Given the description of an element on the screen output the (x, y) to click on. 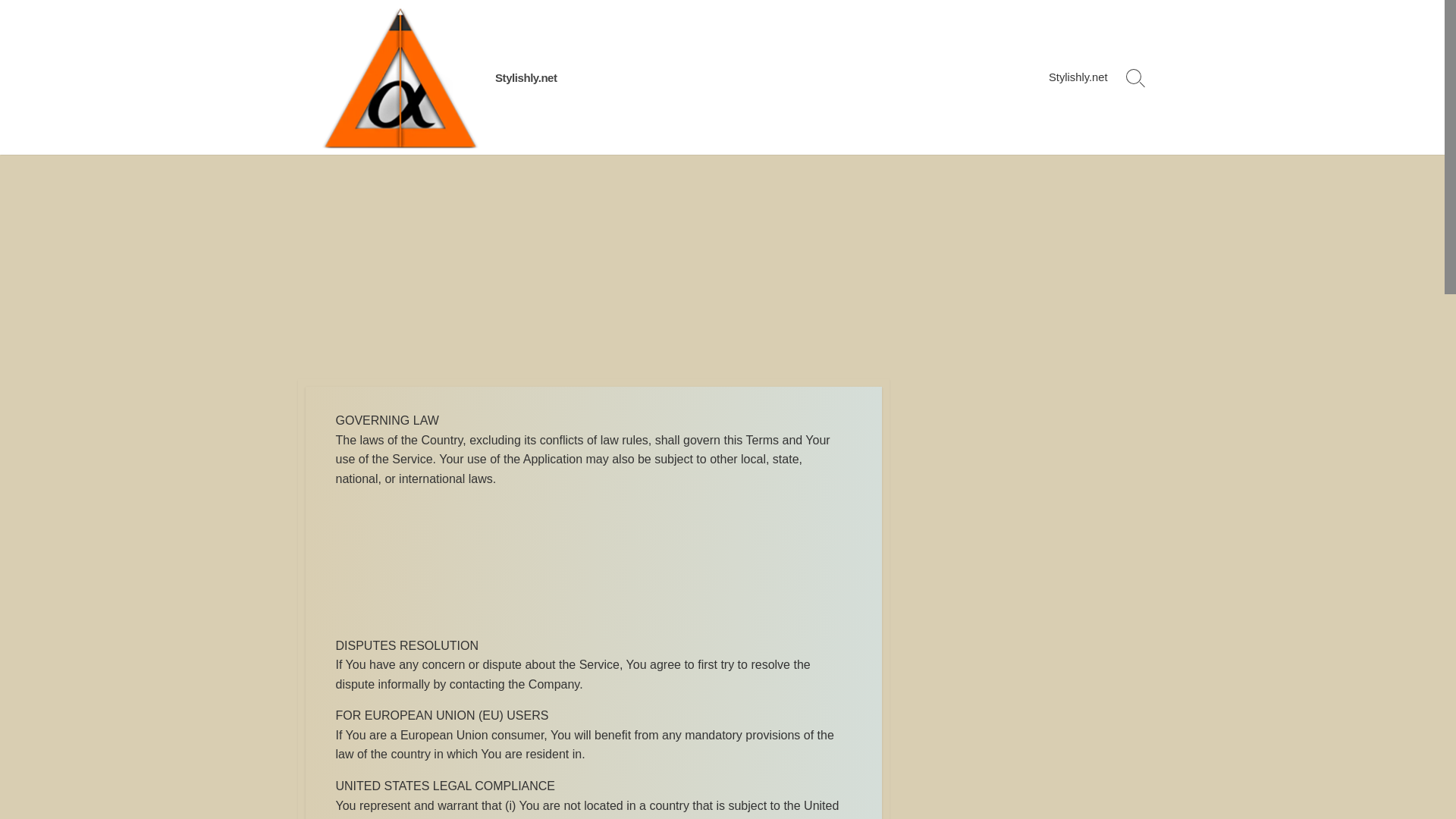
Advertisement (592, 564)
Stylishly.net (399, 77)
Stylishly.net (526, 77)
Stylishly.net (526, 77)
Stylishly.net (1077, 77)
